Given the description of an element on the screen output the (x, y) to click on. 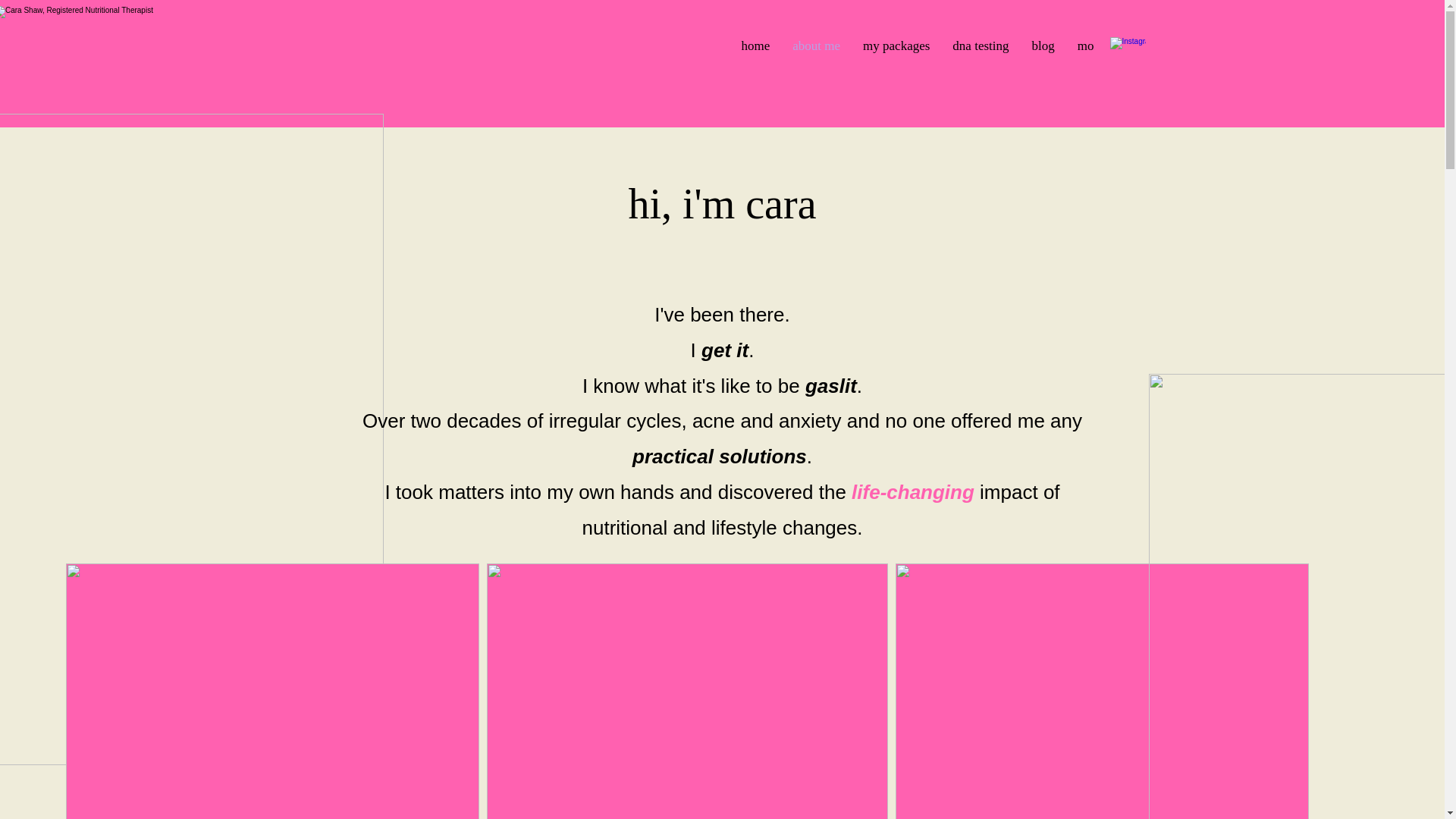
dna testing (980, 50)
blog (1042, 50)
my packages (895, 50)
about me (815, 50)
home (754, 50)
